Given the description of an element on the screen output the (x, y) to click on. 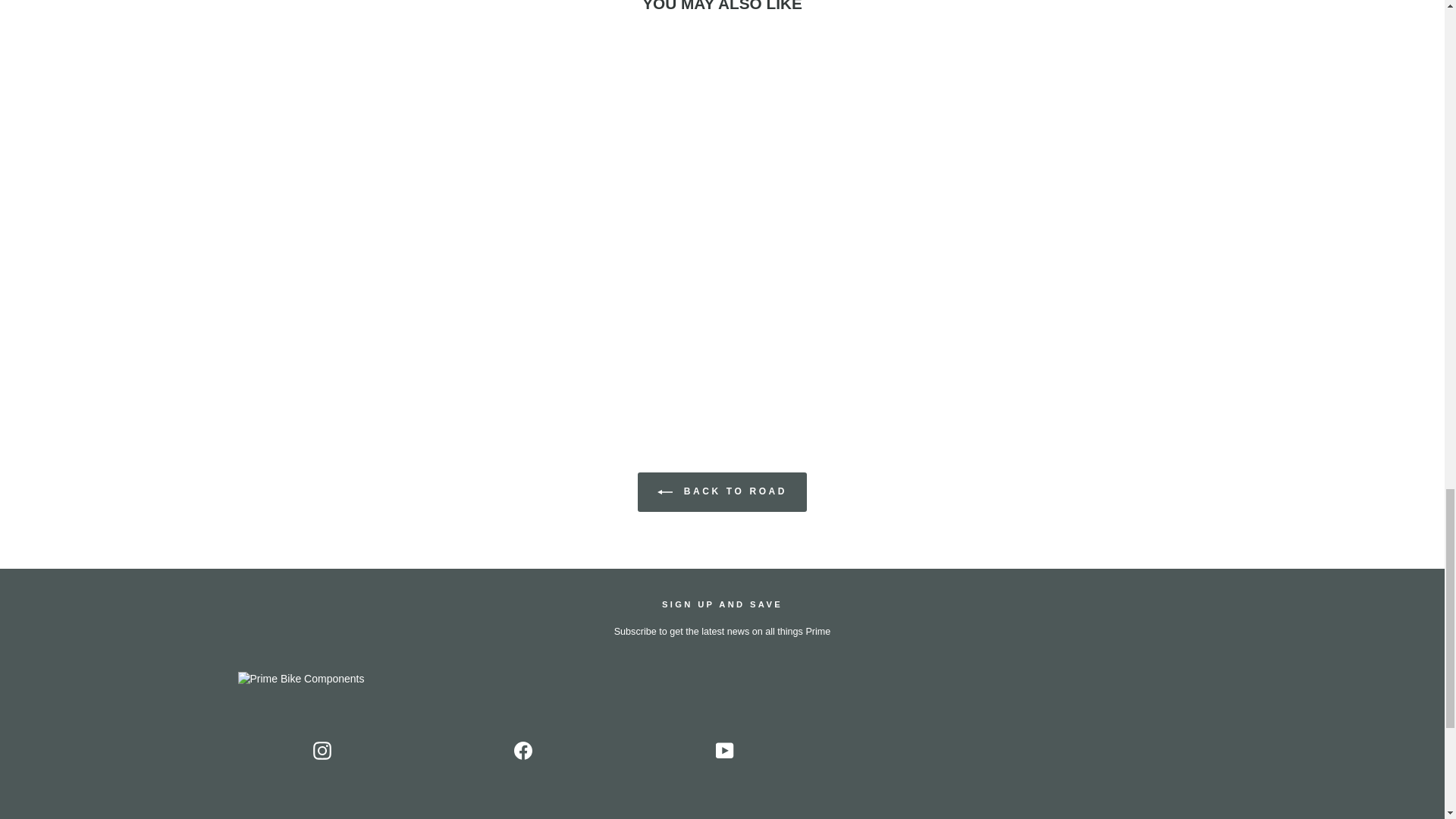
Prime Bike Components on Instagram (322, 751)
Prime Bike Components on Facebook (522, 751)
Prime Bike Components on YouTube (724, 751)
